Given the description of an element on the screen output the (x, y) to click on. 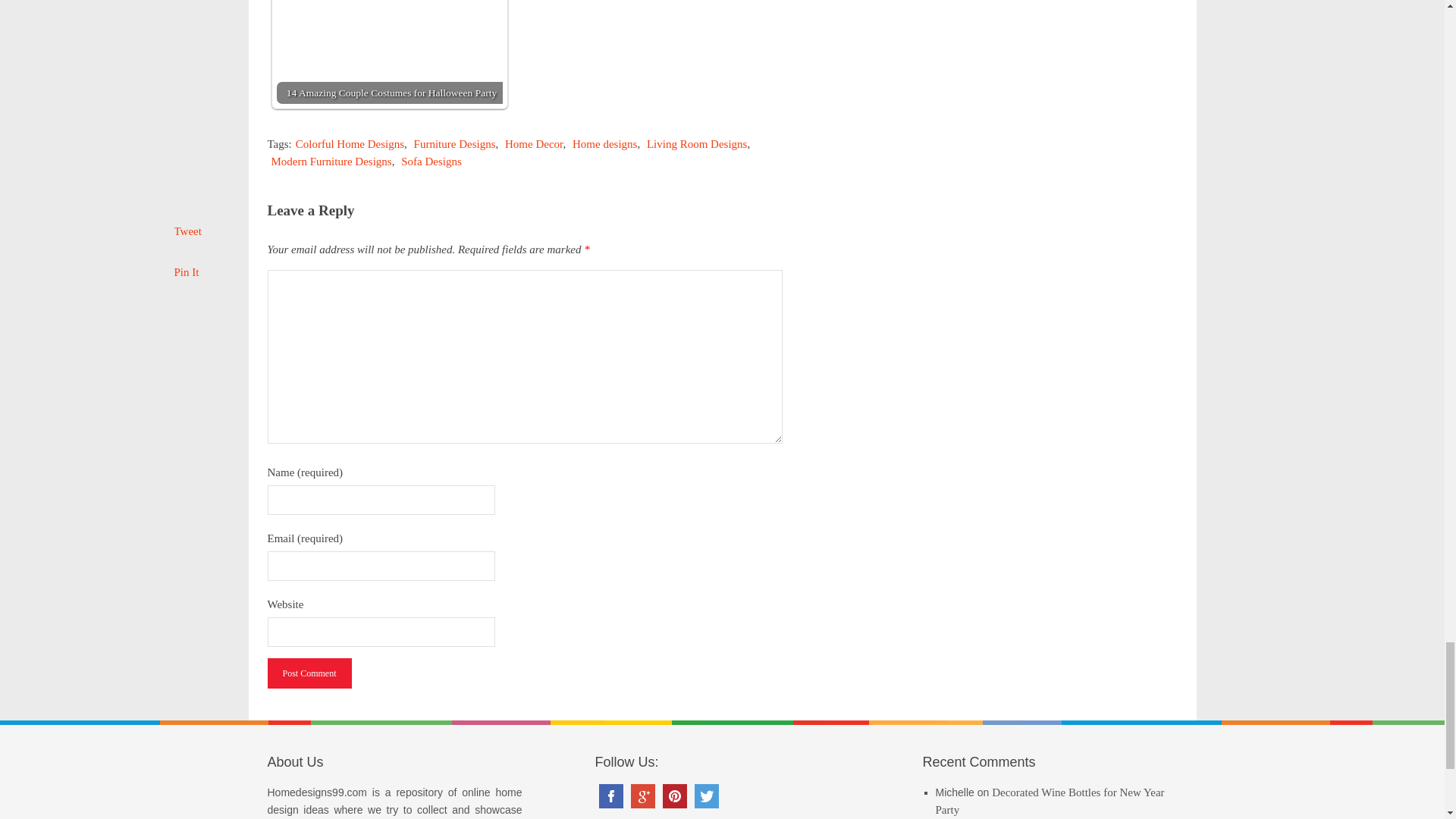
Colorful Home Designs (349, 143)
Home designs (604, 143)
Furniture Designs (454, 143)
Modern Furniture Designs (330, 161)
Sofa Designs (431, 161)
Living Room Designs (697, 143)
14 Amazing Couple Costumes for Halloween Party (389, 52)
Post Comment (308, 673)
Post Comment (308, 673)
Home Decor (533, 143)
